Given the description of an element on the screen output the (x, y) to click on. 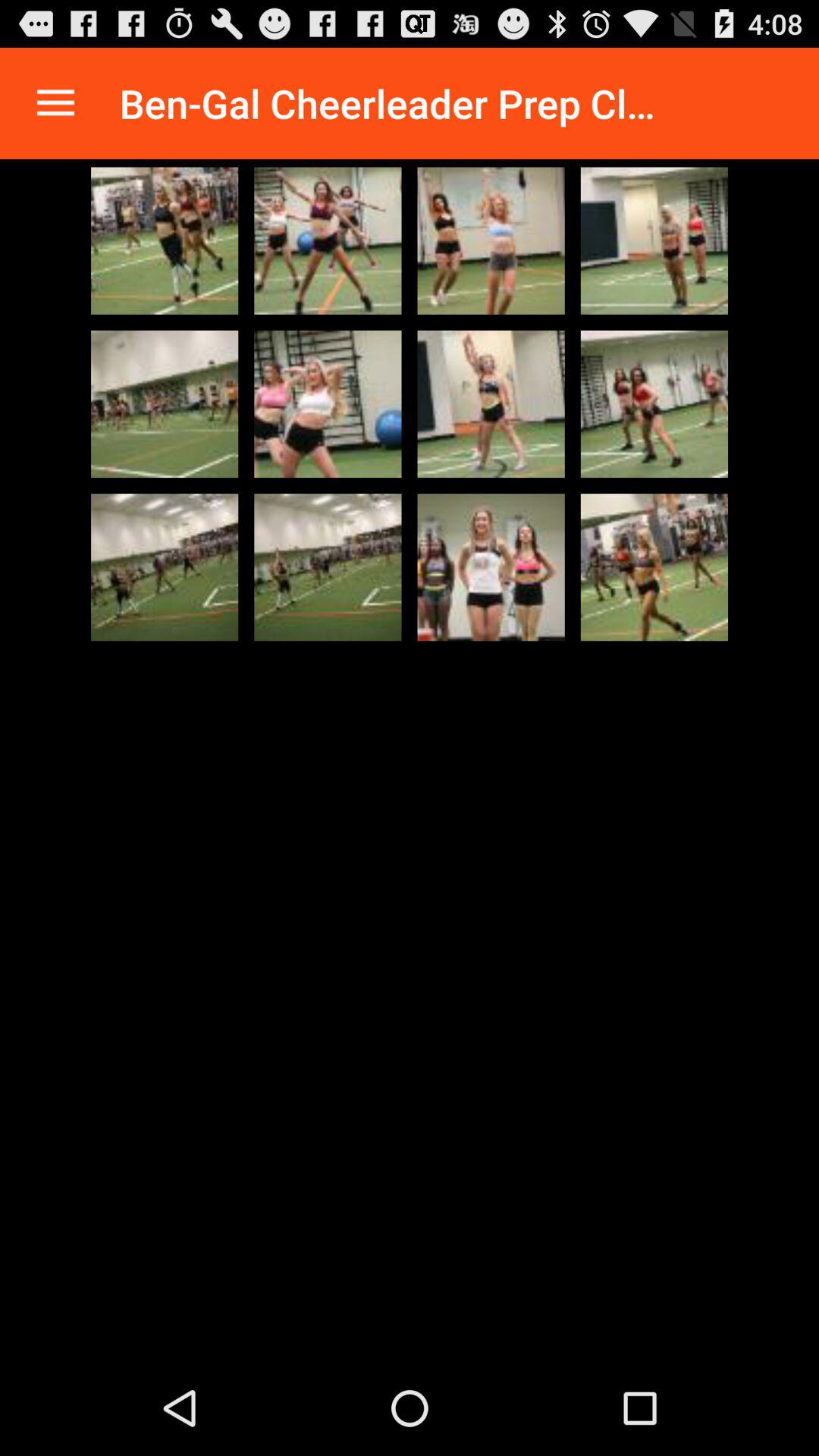
view selected photo (490, 403)
